Given the description of an element on the screen output the (x, y) to click on. 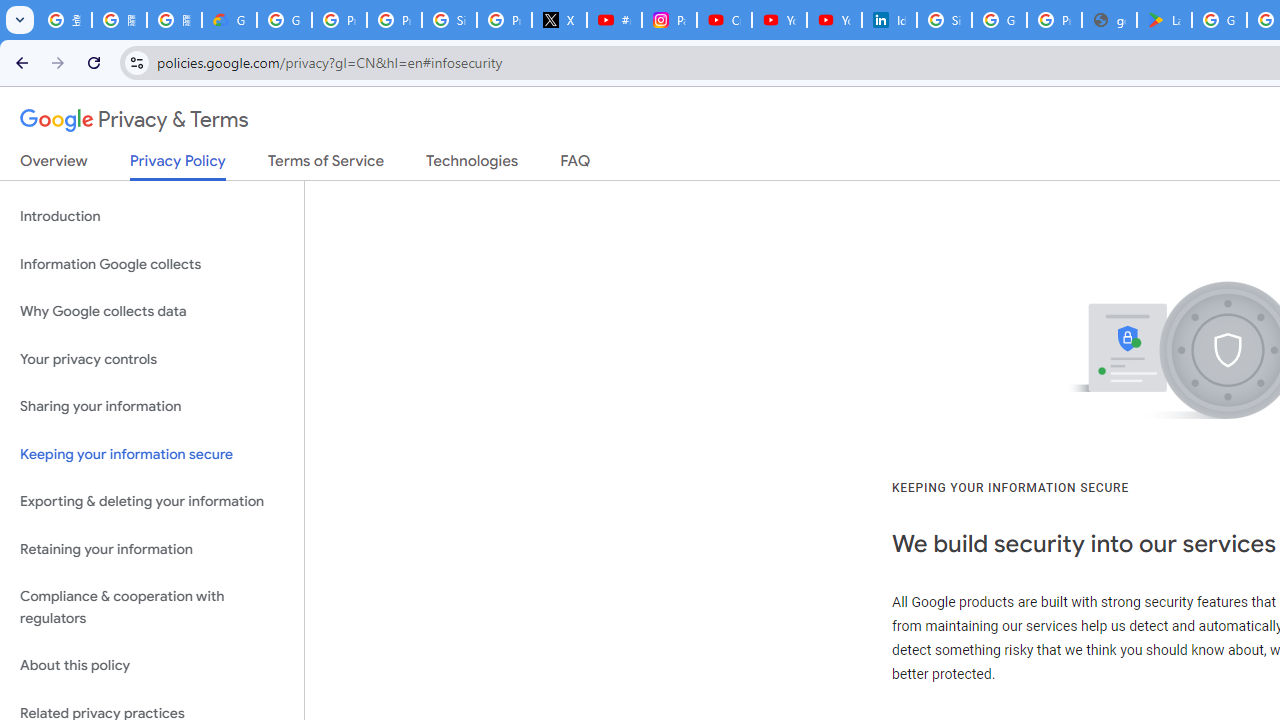
Sharing your information (152, 407)
Compliance & cooperation with regulators (152, 607)
YouTube Culture & Trends - YouTube Top 10, 2021 (833, 20)
Privacy Help Center - Policies Help (394, 20)
Exporting & deleting your information (152, 502)
